Given the description of an element on the screen output the (x, y) to click on. 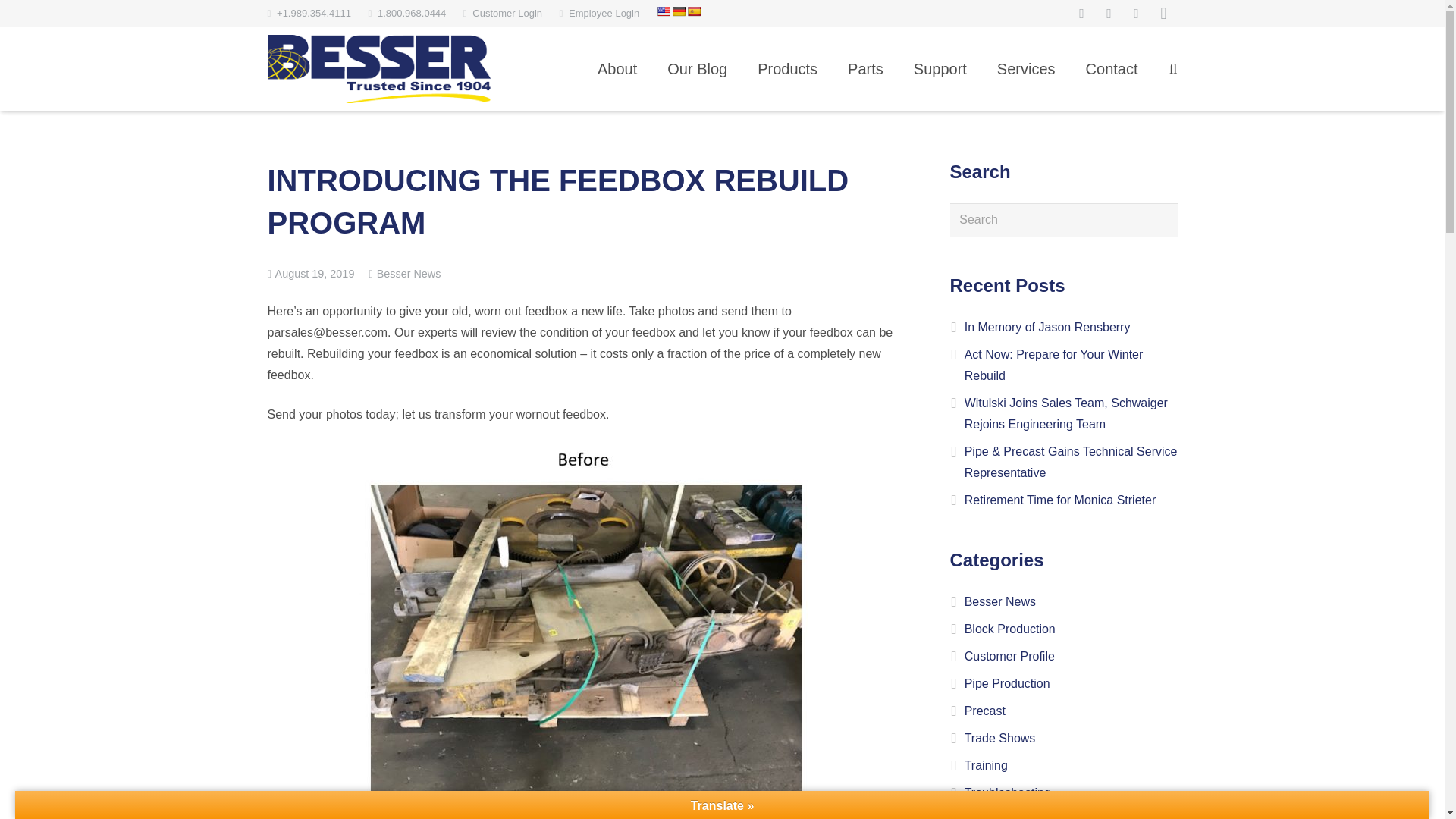
German (678, 10)
English (662, 10)
Search (1062, 220)
Products (787, 68)
Employee Login (604, 12)
Support (939, 68)
Spanish (693, 10)
Contact (1111, 68)
Services (1025, 68)
Besser News (409, 273)
